Given the description of an element on the screen output the (x, y) to click on. 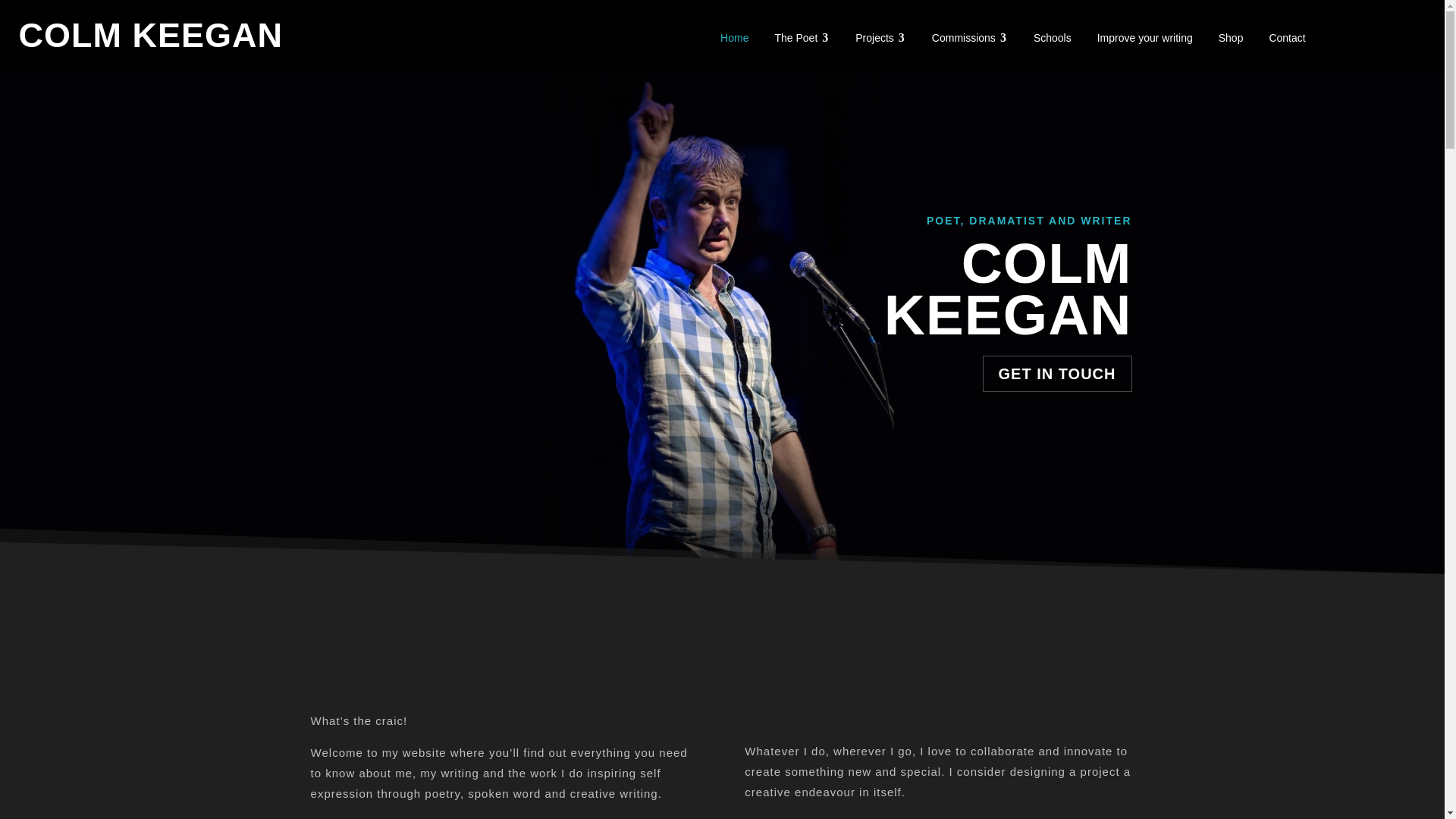
Commissions (969, 37)
The Poet (801, 37)
Schools (1052, 37)
Projects (880, 37)
Improve your writing (1144, 37)
Home (734, 37)
Contact (1286, 37)
Shop (1230, 37)
